Given the description of an element on the screen output the (x, y) to click on. 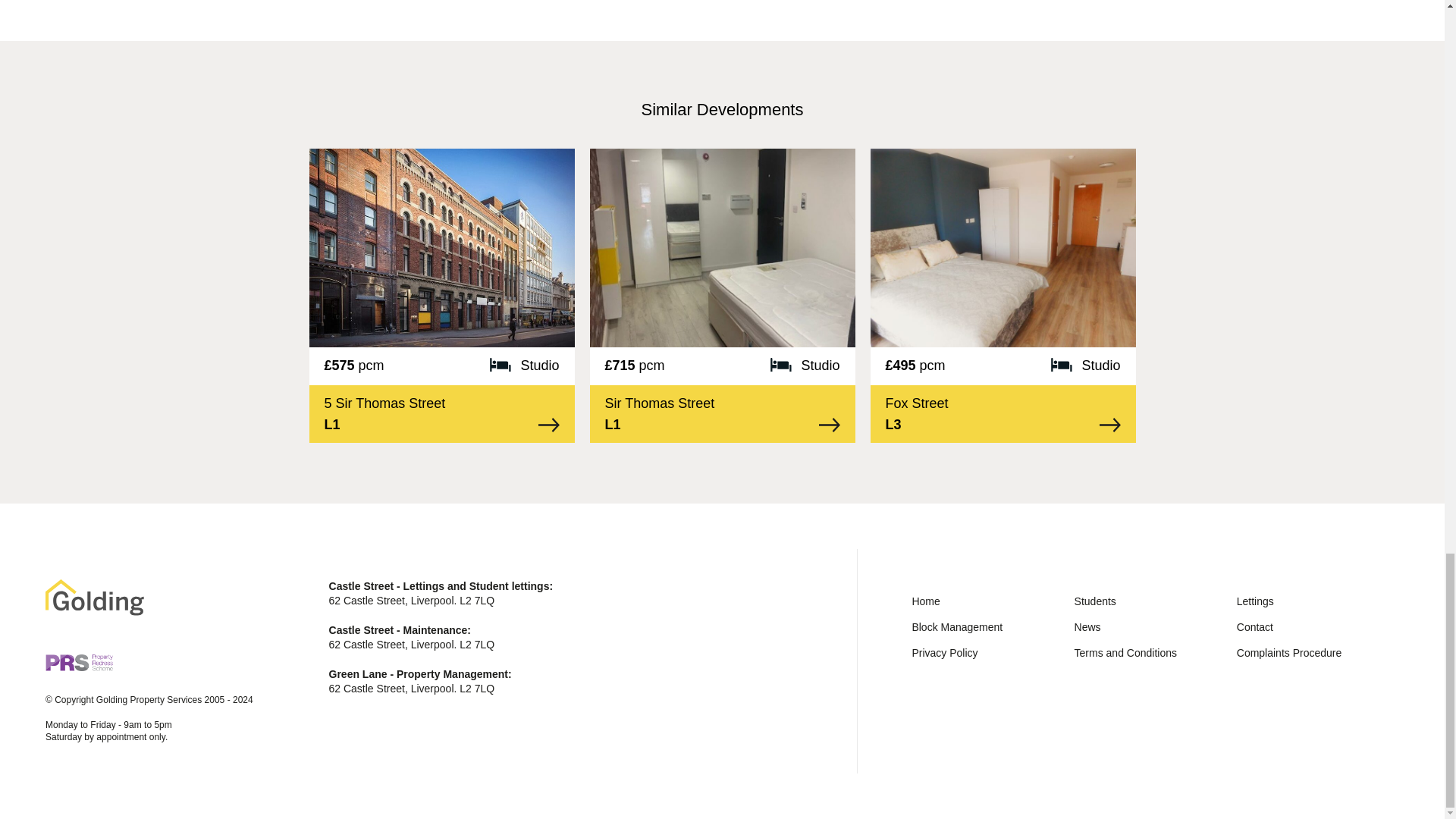
News (1087, 626)
Complaints Procedure (1289, 653)
Contact (1254, 626)
Students (1095, 601)
Privacy Policy (943, 653)
Block Management (957, 626)
Terms and Conditions (1125, 653)
Home (925, 601)
Golding Property Services (94, 597)
Lettings (1255, 601)
PRS (79, 662)
